Given the description of an element on the screen output the (x, y) to click on. 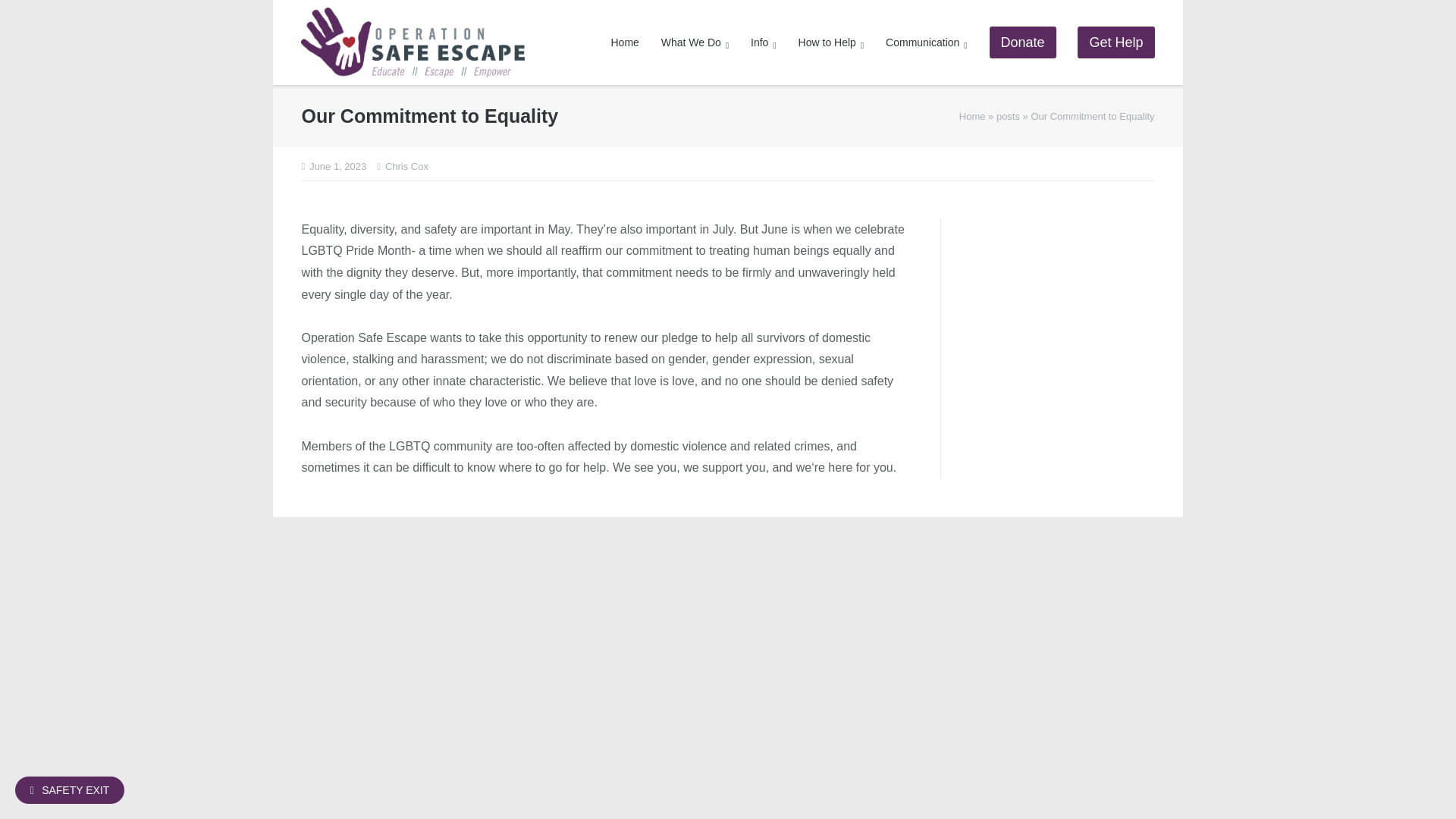
Communication (926, 42)
Get Help (1115, 42)
Home (972, 116)
Chris Cox (406, 166)
posts (1007, 116)
Donate (1023, 42)
